Given the description of an element on the screen output the (x, y) to click on. 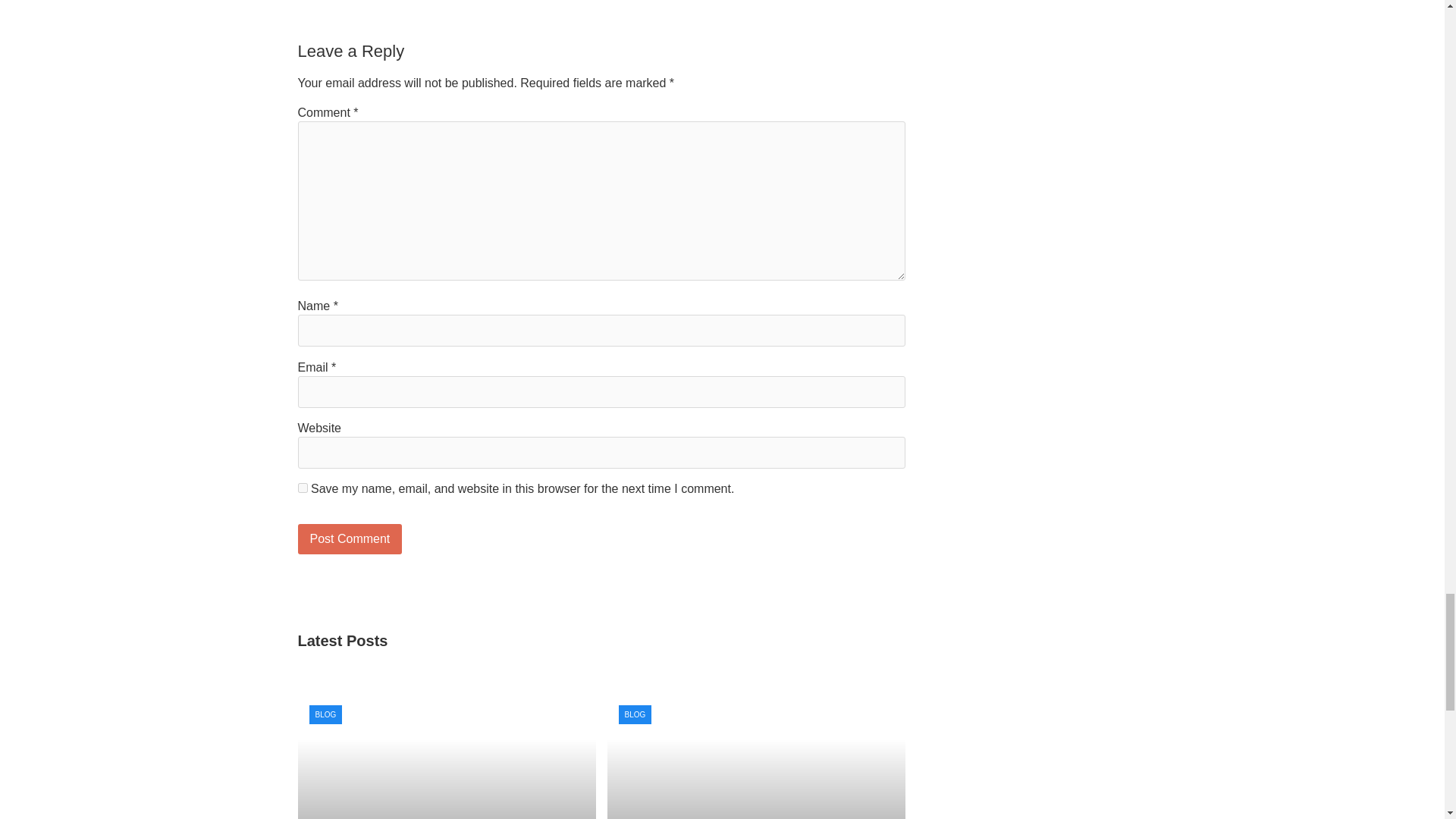
Post Comment (349, 539)
All About Modern Kitchen And Bath Design Elements (755, 756)
yes (302, 488)
The Keys to Successful Carpentry Renovation (446, 756)
